Given the description of an element on the screen output the (x, y) to click on. 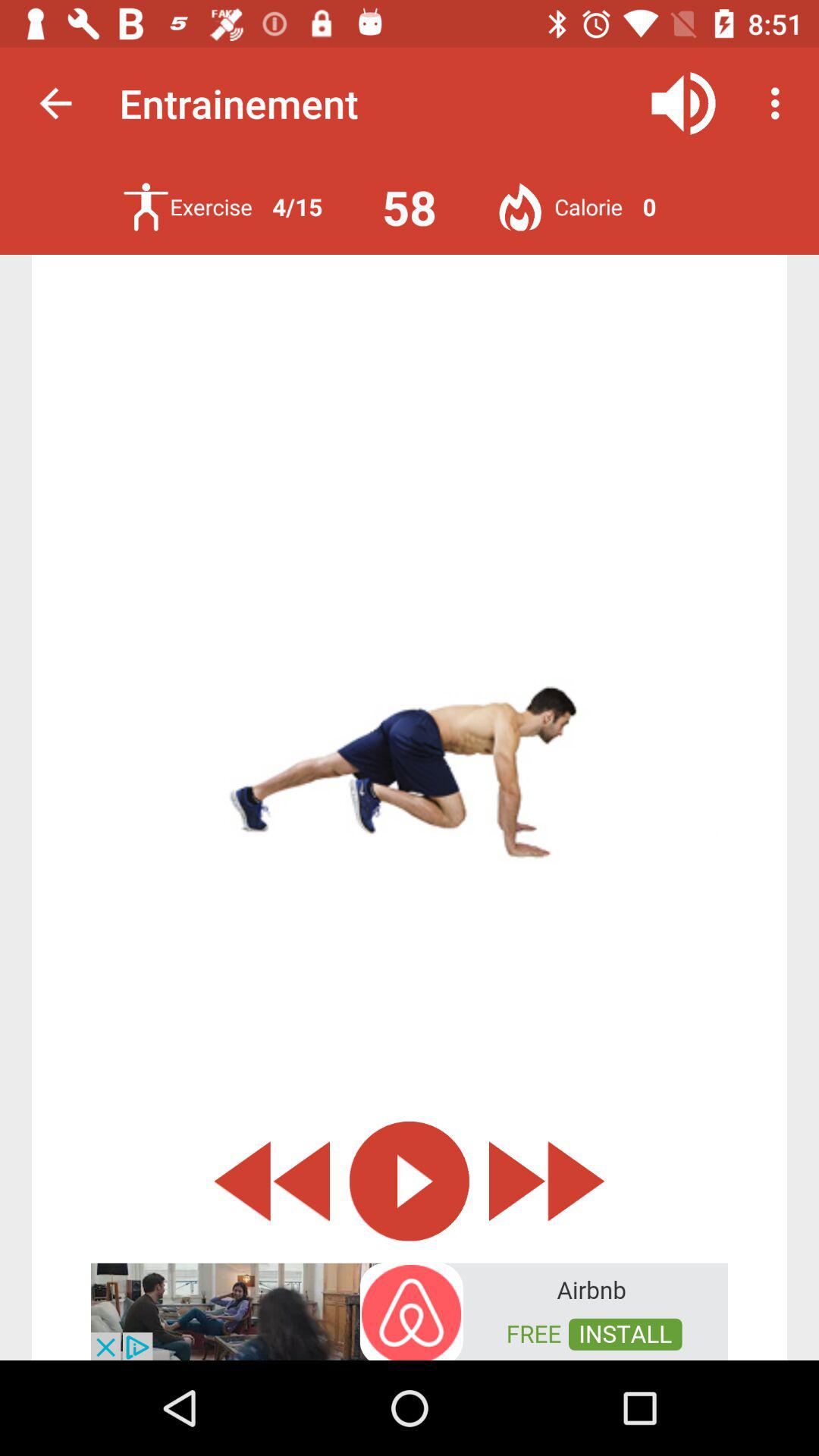
advertising bar (409, 1310)
